Given the description of an element on the screen output the (x, y) to click on. 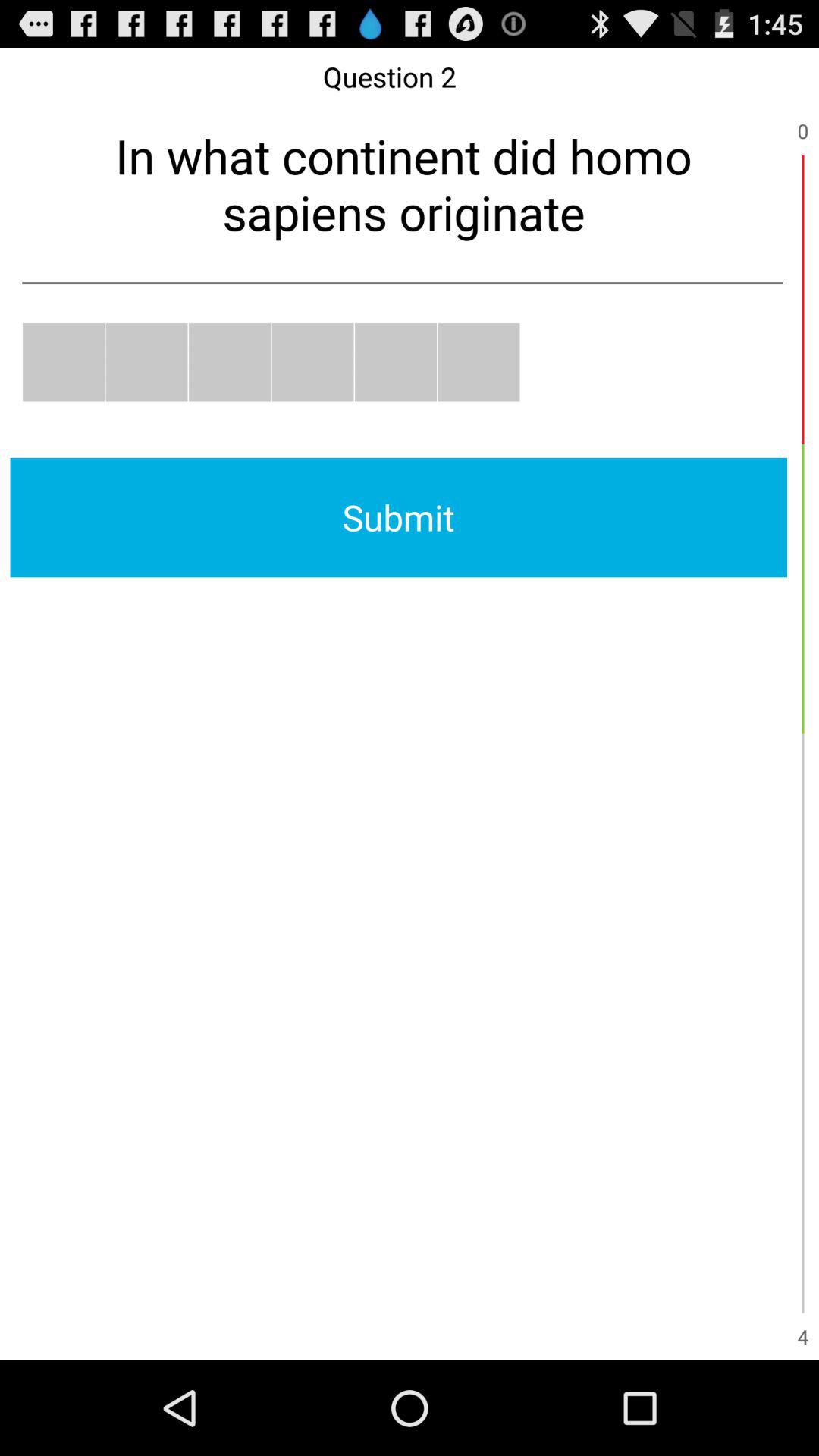
choose answer four (312, 362)
